Given the description of an element on the screen output the (x, y) to click on. 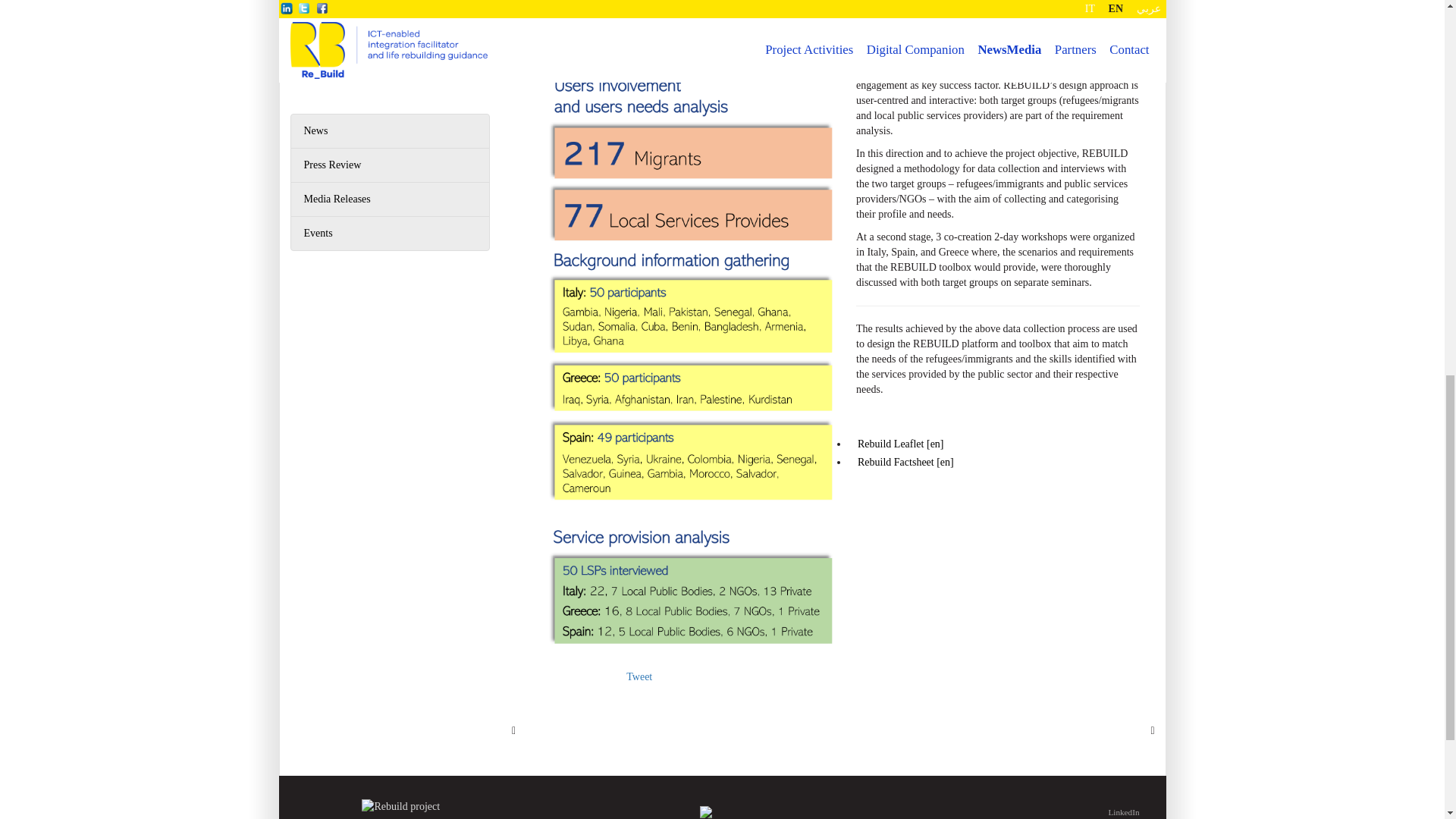
REBUILD-FactSheet.pdf (905, 462)
REBUILD-Leaflet-digital.pdf (900, 443)
Rebuild (400, 806)
LinkedIn (1043, 811)
Rebuild (721, 808)
Tweet (639, 676)
